Given the description of an element on the screen output the (x, y) to click on. 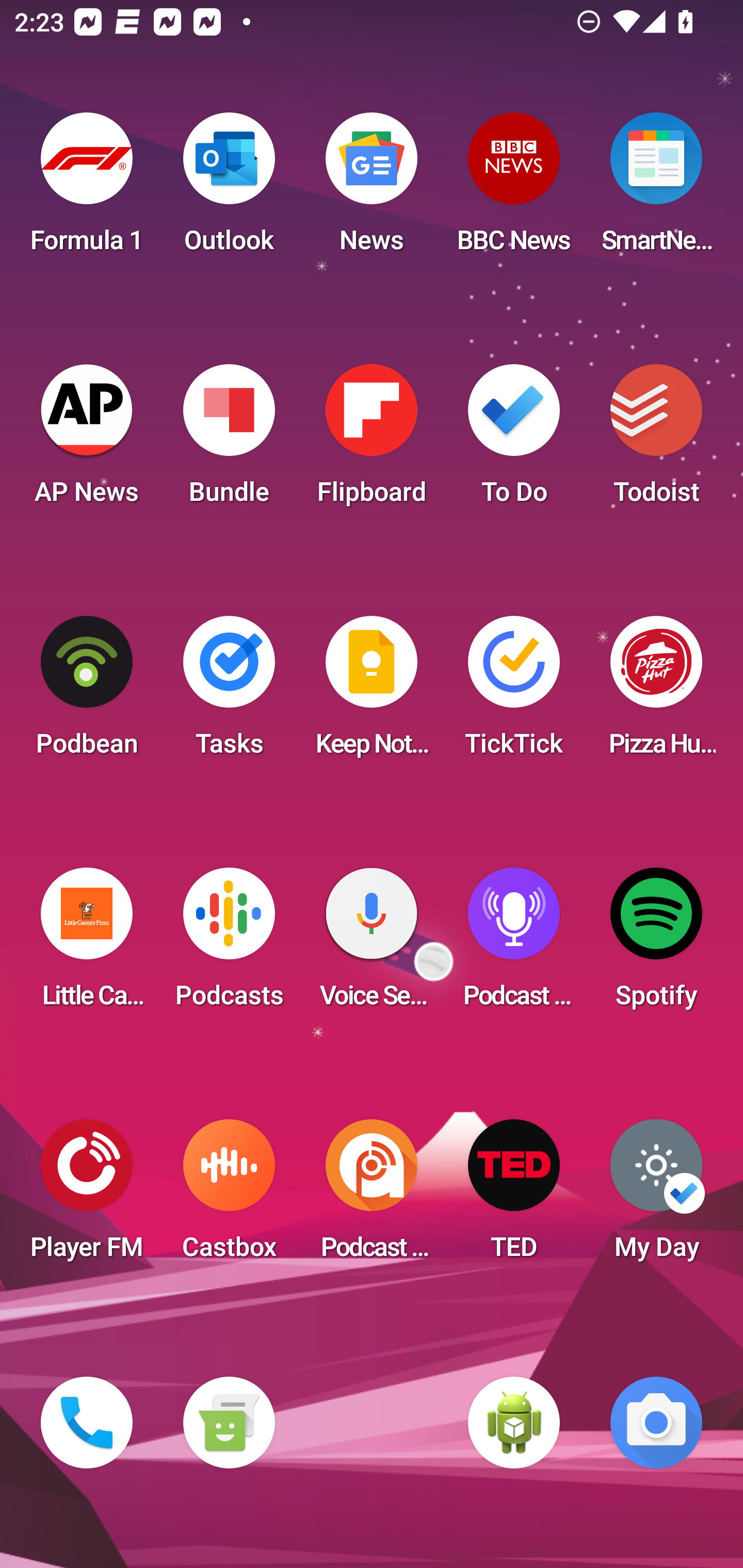
Formula 1 (86, 188)
Outlook (228, 188)
News (371, 188)
BBC News (513, 188)
SmartNews (656, 188)
AP News (86, 440)
Bundle (228, 440)
Flipboard (371, 440)
To Do (513, 440)
Todoist (656, 440)
Podbean (86, 692)
Tasks (228, 692)
Keep Notes (371, 692)
TickTick (513, 692)
Pizza Hut HK & Macau (656, 692)
Little Caesars Pizza (86, 943)
Podcasts (228, 943)
Voice Search (371, 943)
Podcast Player (513, 943)
Spotify (656, 943)
Player FM (86, 1195)
Castbox (228, 1195)
Podcast Addict (371, 1195)
TED (513, 1195)
My Day (656, 1195)
Phone (86, 1422)
Messaging (228, 1422)
WebView Browser Tester (513, 1422)
Camera (656, 1422)
